Given the description of an element on the screen output the (x, y) to click on. 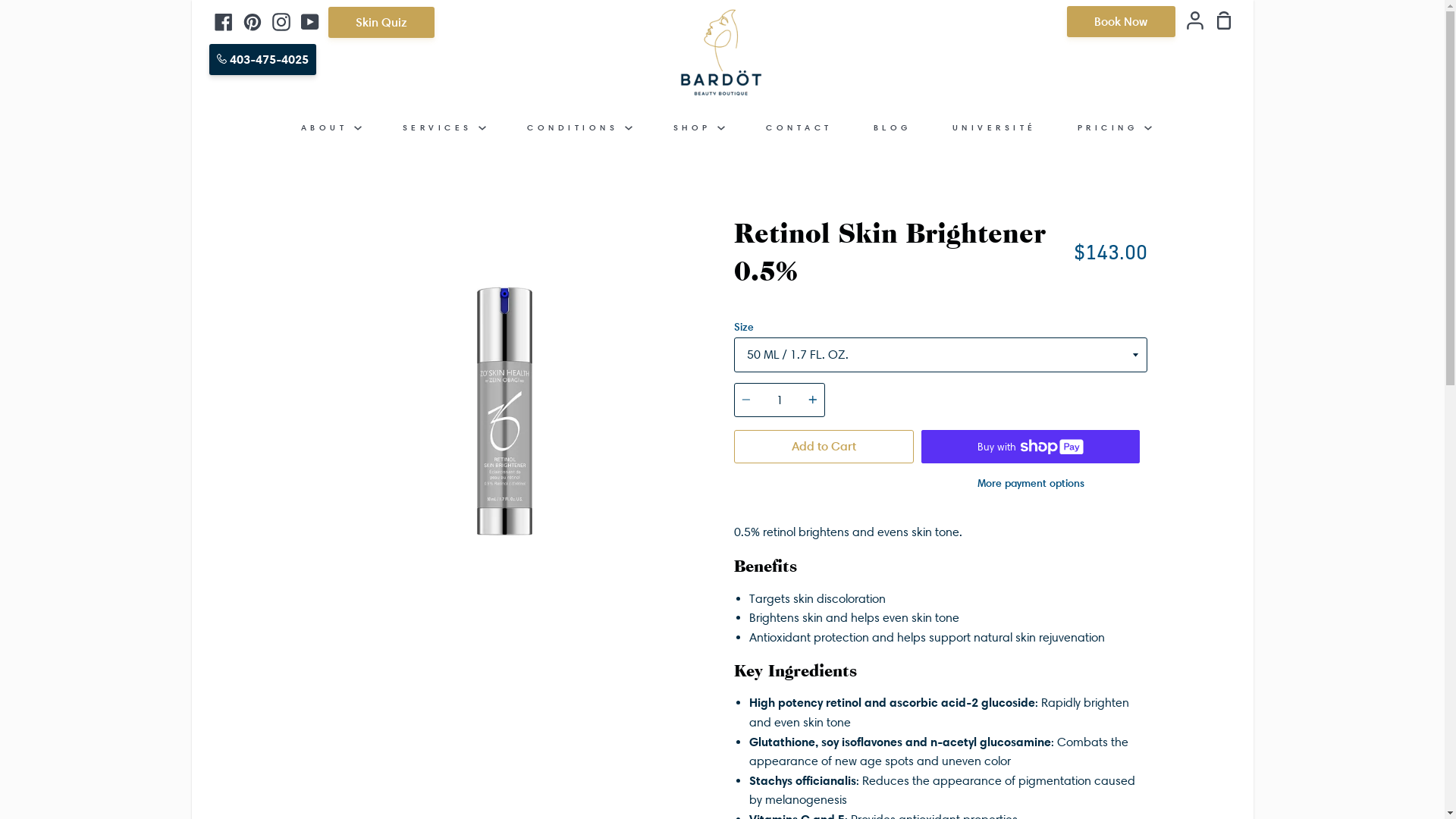
Book Now Element type: text (1120, 21)
Account Element type: text (1189, 22)
403-475-4025 Element type: text (262, 59)
CONTACT Element type: text (799, 127)
PRICING Element type: text (1114, 127)
More payment options Element type: text (1029, 482)
Facebook Element type: text (222, 20)
CONDITIONS Element type: text (579, 127)
SHOP Element type: text (698, 127)
Shopping Cart Element type: text (1218, 22)
Add to Cart Element type: text (823, 446)
BLOG Element type: text (891, 127)
Skin Quiz Element type: text (380, 21)
Pinterest Element type: text (251, 20)
YouTube Element type: text (309, 20)
Instagram Element type: text (280, 20)
ABOUT Element type: text (331, 127)
SERVICES Element type: text (444, 127)
